Given the description of an element on the screen output the (x, y) to click on. 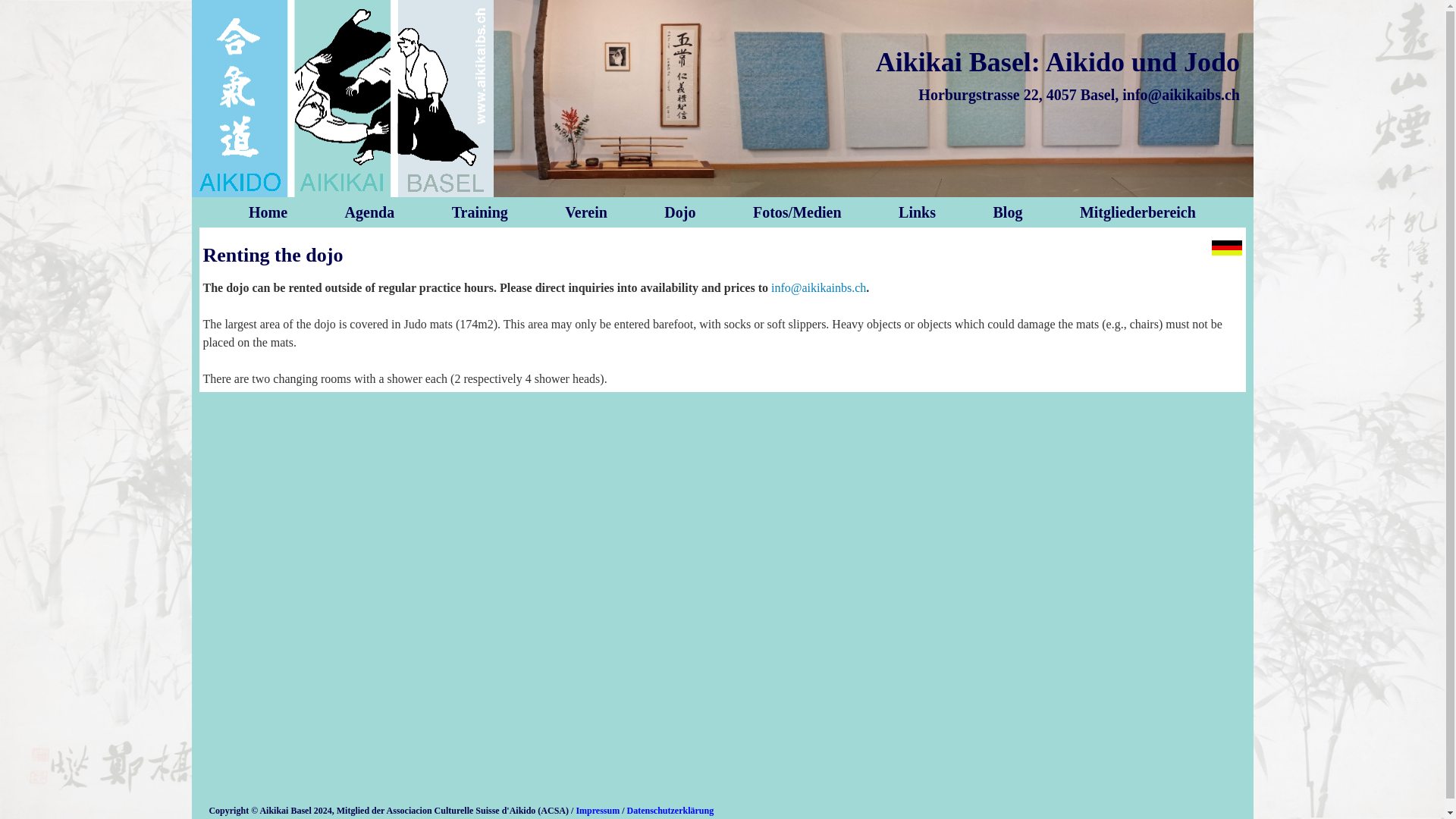
Blog (1007, 212)
Dojo (679, 212)
Mitgliederbereich (1137, 212)
Verein (585, 212)
Training (479, 212)
Impressum (597, 808)
Home (267, 212)
Links (917, 212)
Agenda (369, 212)
